Given the description of an element on the screen output the (x, y) to click on. 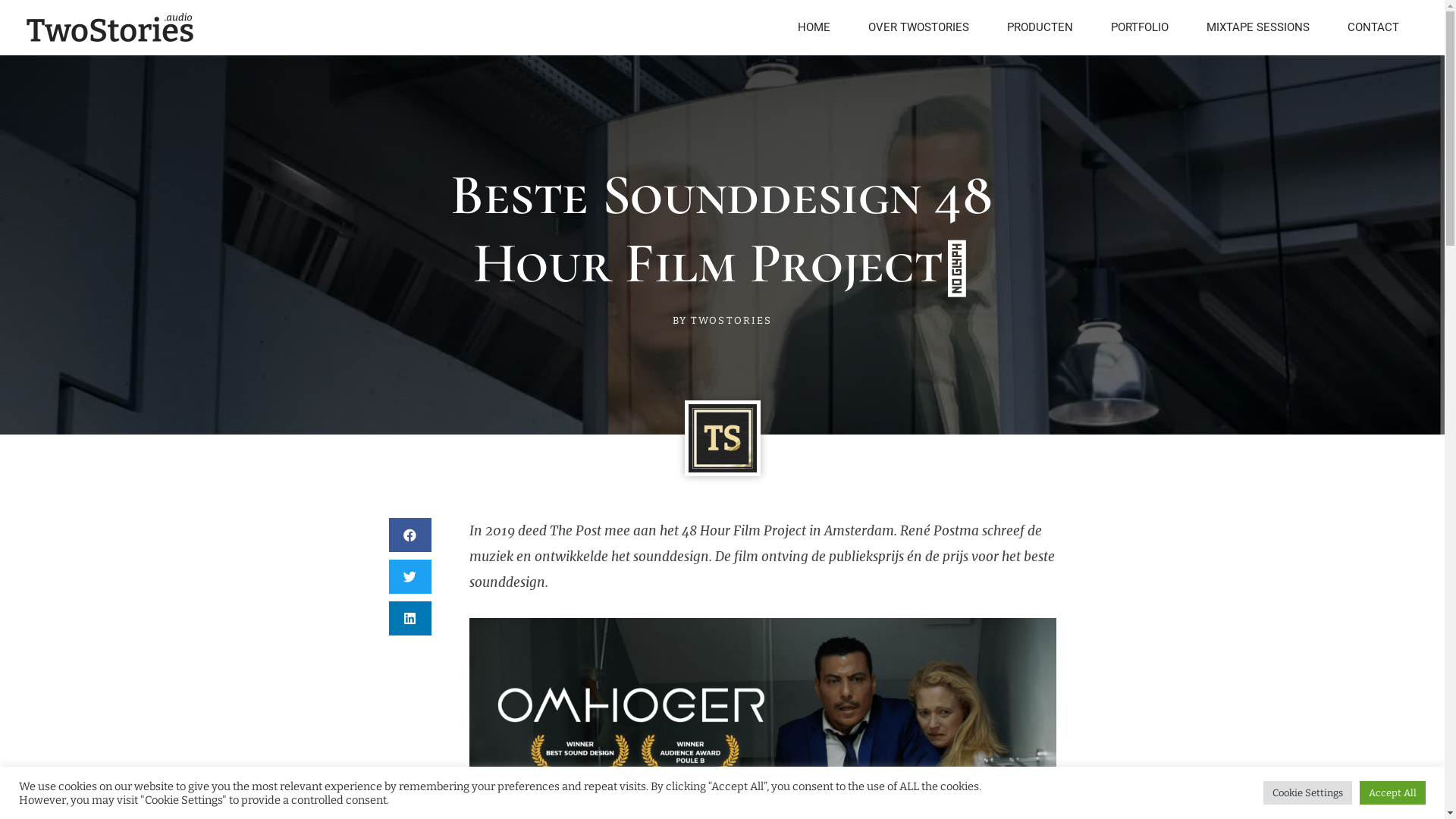
OVER TWOSTORIES Element type: text (918, 27)
MIXTAPE SESSIONS Element type: text (1257, 27)
Accept All Element type: text (1392, 792)
BY TWOSTORIES Element type: text (721, 321)
PRODUCTEN Element type: text (1040, 27)
HOME Element type: text (813, 27)
PORTFOLIO Element type: text (1139, 27)
CONTACT Element type: text (1373, 27)
Cookie Settings Element type: text (1307, 792)
